Given the description of an element on the screen output the (x, y) to click on. 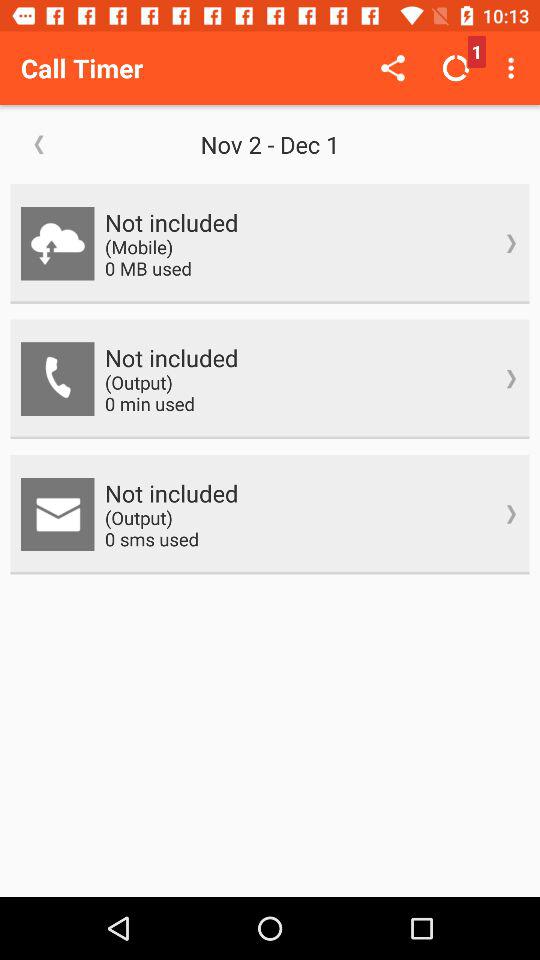
turn on the nov 2 dec icon (269, 144)
